Given the description of an element on the screen output the (x, y) to click on. 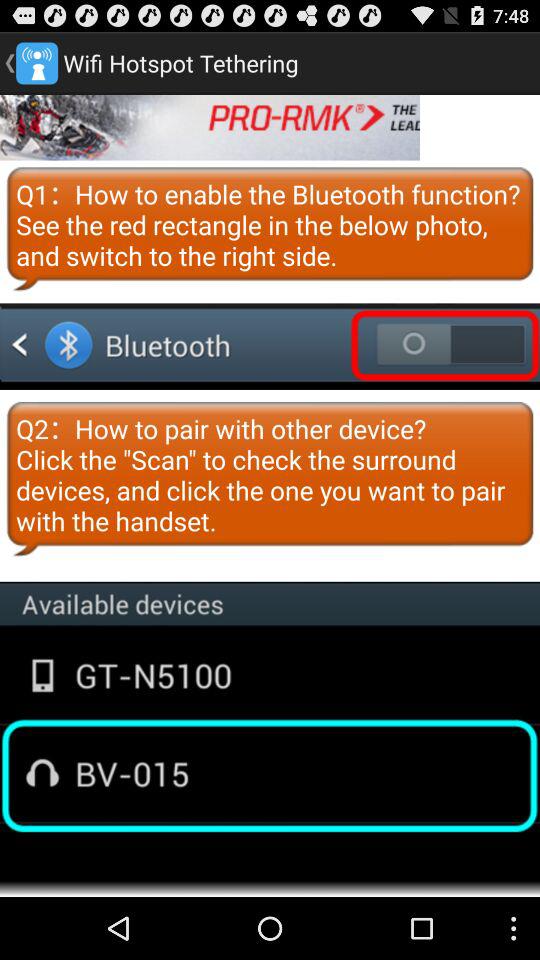
toggle advertisement (210, 127)
